Given the description of an element on the screen output the (x, y) to click on. 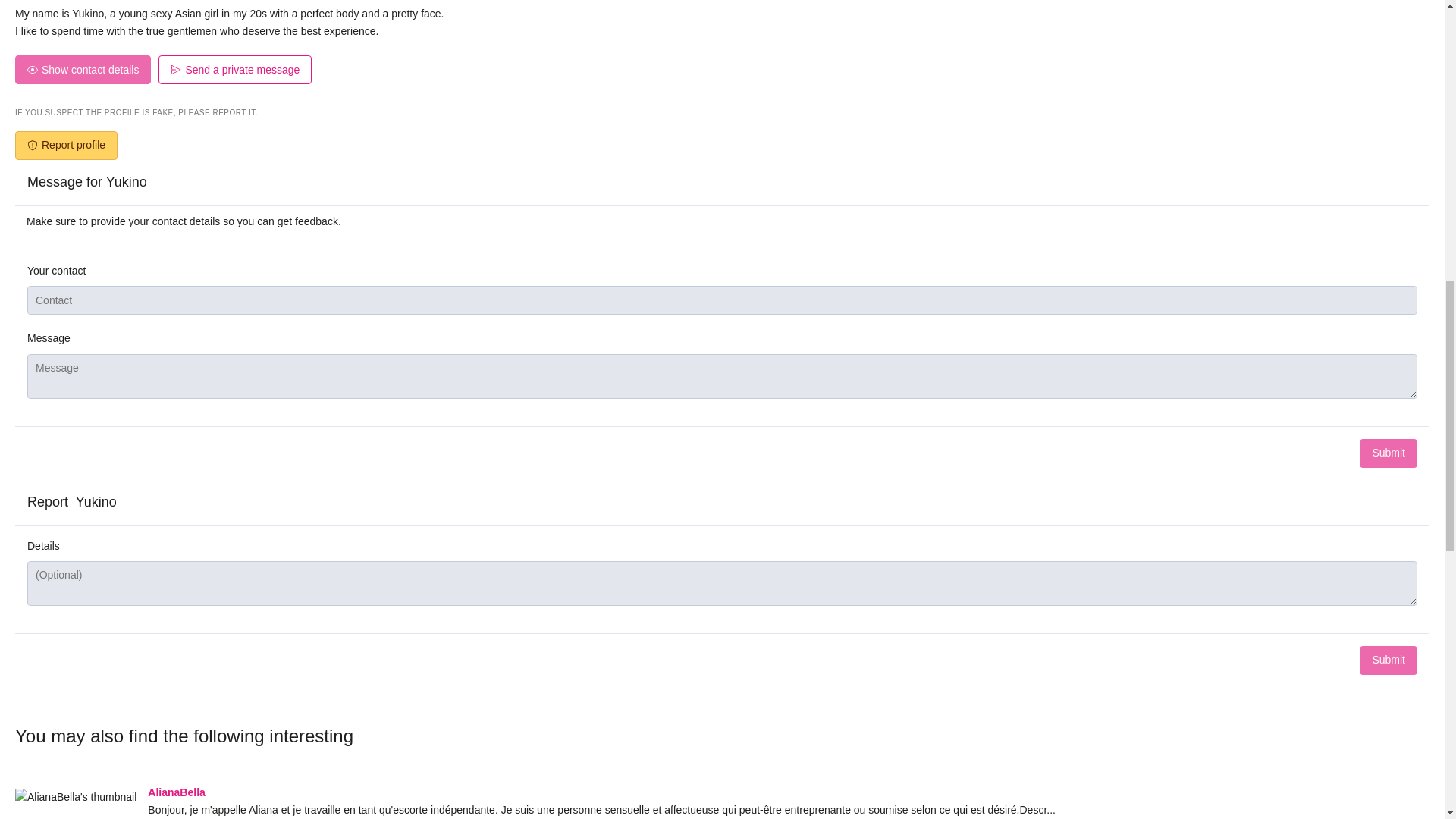
Submit (1387, 660)
AlianaBella's profile (176, 792)
Send a private message (234, 69)
Report profile (65, 145)
Show contact details (82, 69)
Submit (1387, 452)
AlianaBella (176, 792)
